Given the description of an element on the screen output the (x, y) to click on. 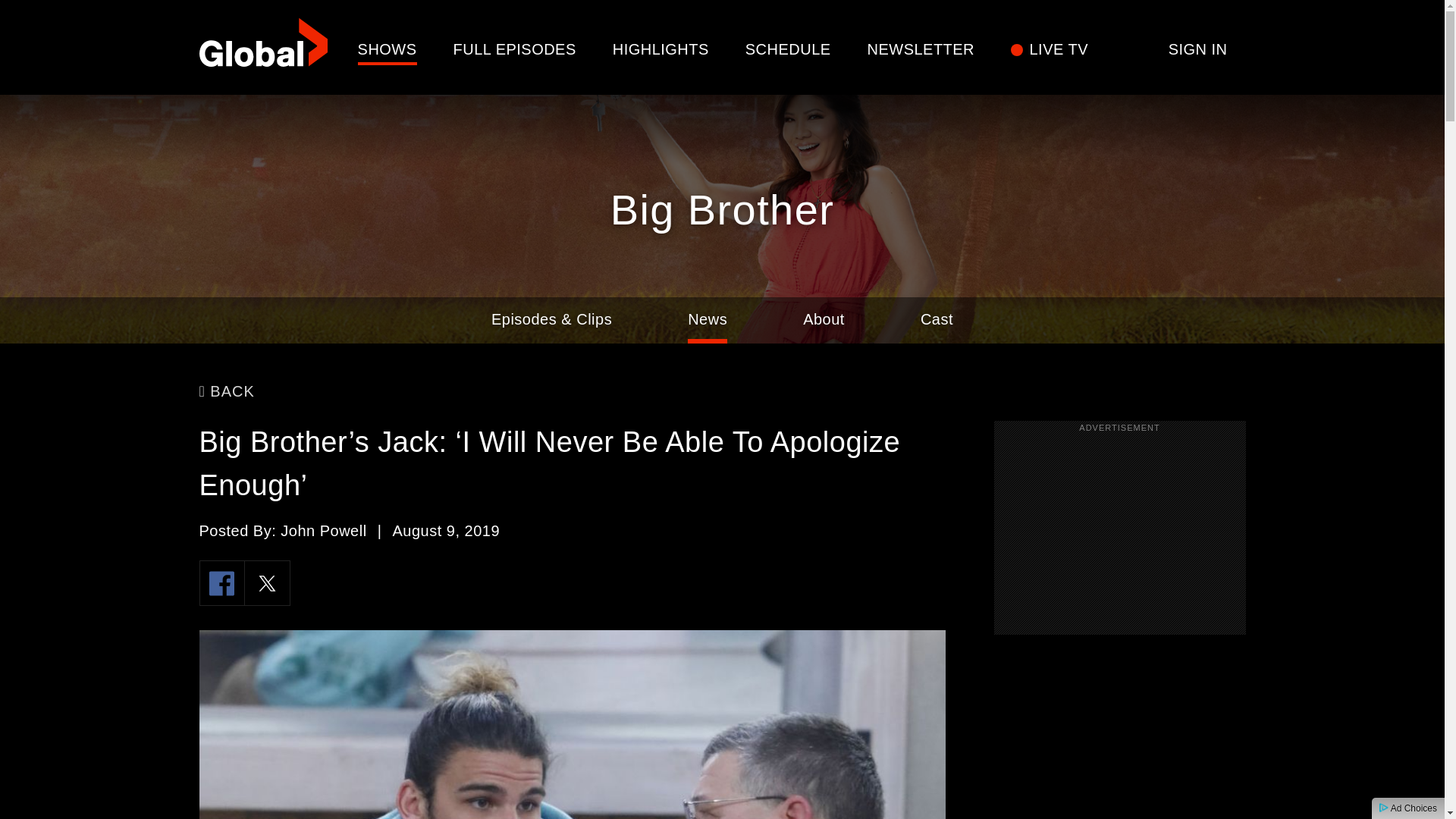
SIGN IN (1198, 48)
LIVE TV (1058, 48)
BACK (225, 391)
SHOWS (387, 48)
Highlights (660, 48)
About (823, 319)
SCHEDULE (788, 48)
Cast (936, 319)
FULL EPISODES (514, 48)
NEWSLETTER (920, 48)
Sign In (1198, 48)
LIVE TV (1058, 48)
SHOWS (387, 48)
globaltv (262, 47)
SCHEDULE (788, 48)
